Given the description of an element on the screen output the (x, y) to click on. 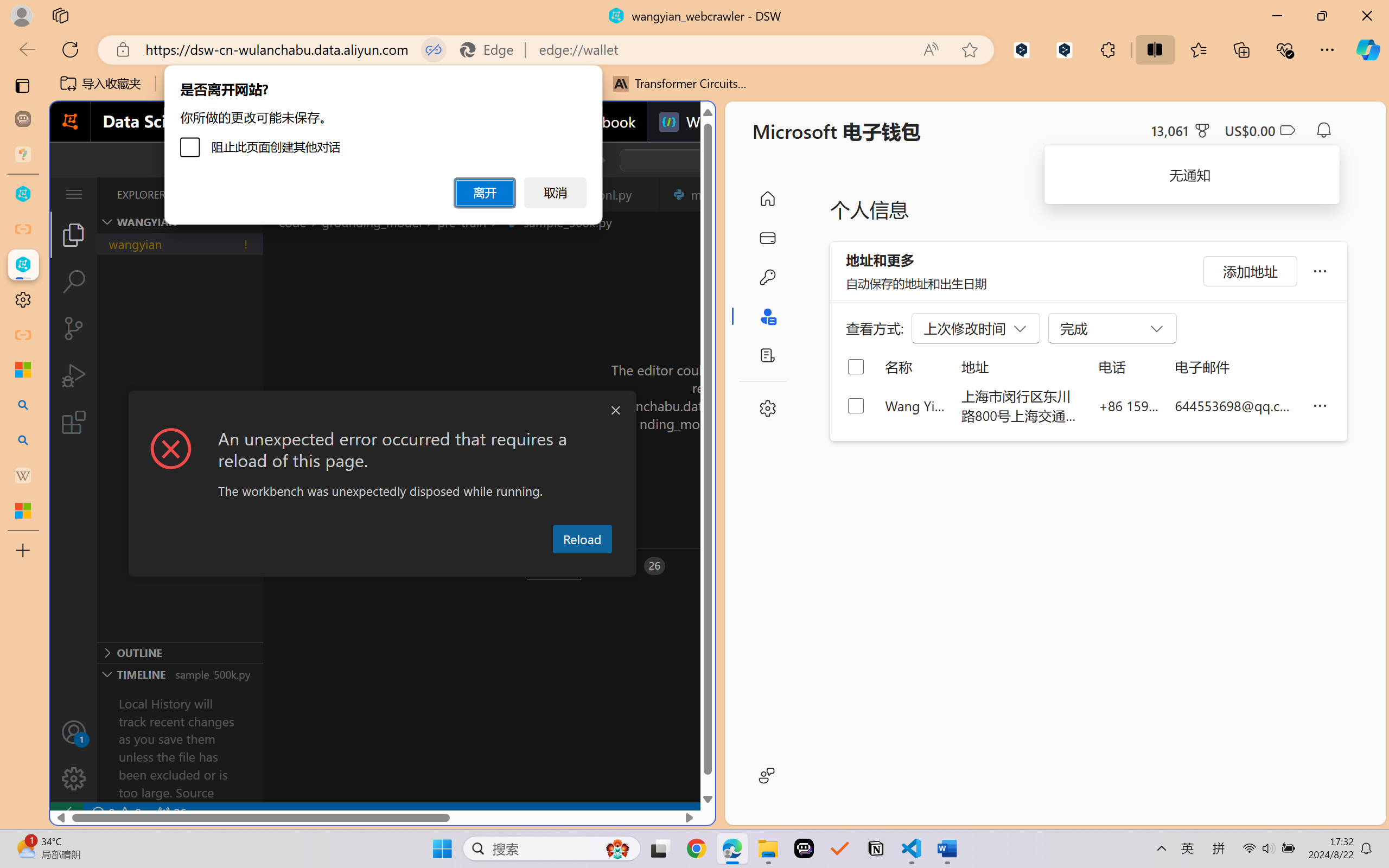
Extensions (Ctrl+Shift+X) (73, 422)
Application Menu (73, 194)
Microsoft security help and learning (22, 369)
Wang Yian (914, 405)
